Given the description of an element on the screen output the (x, y) to click on. 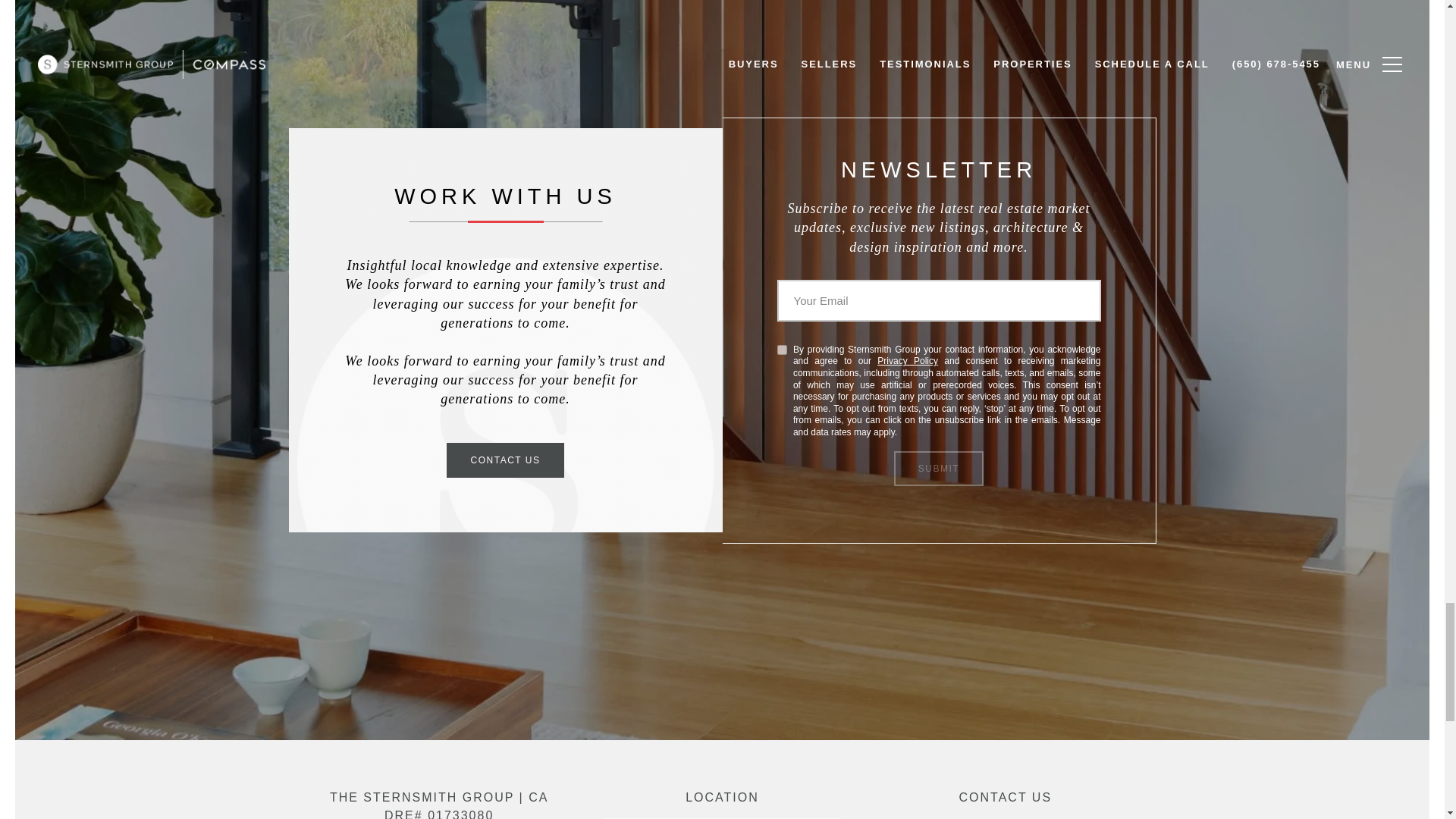
on (781, 349)
